Given the description of an element on the screen output the (x, y) to click on. 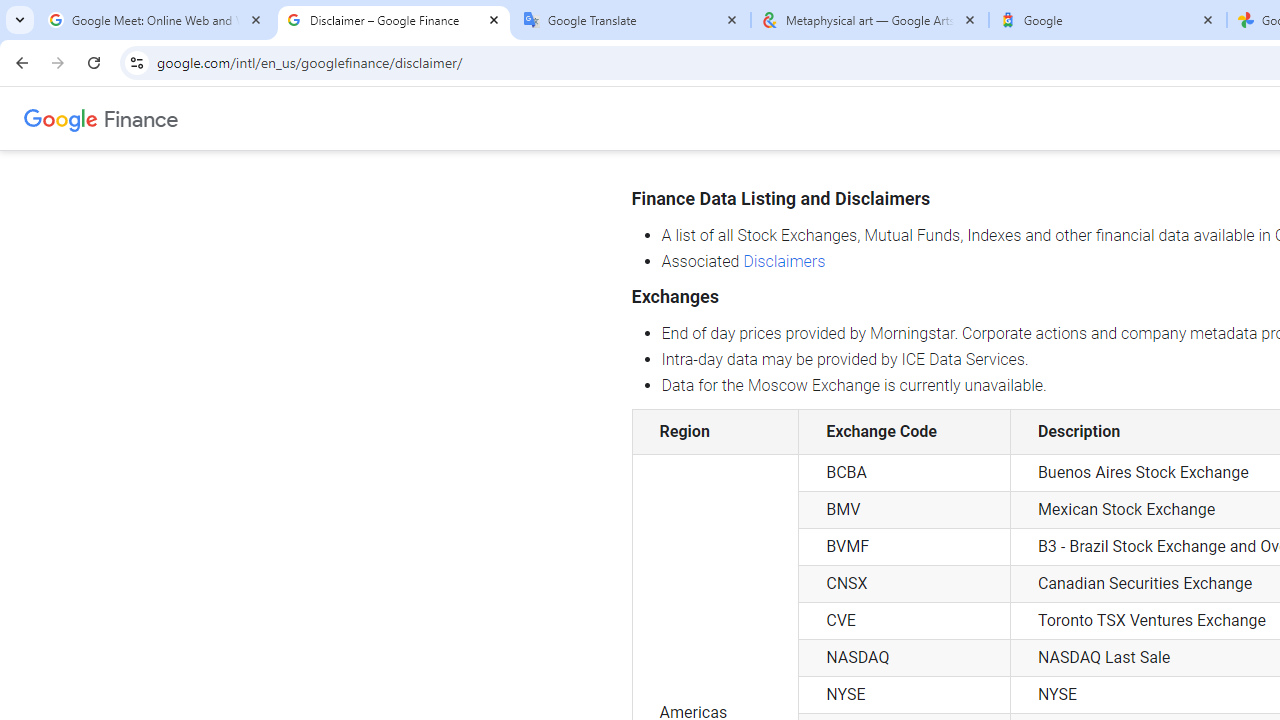
Google Translate (632, 20)
CNSX (904, 584)
NASDAQ (904, 657)
Finance (141, 118)
CVE (904, 620)
Google (61, 118)
BCBA (904, 472)
BMV (904, 510)
Google (1108, 20)
